Given the description of an element on the screen output the (x, y) to click on. 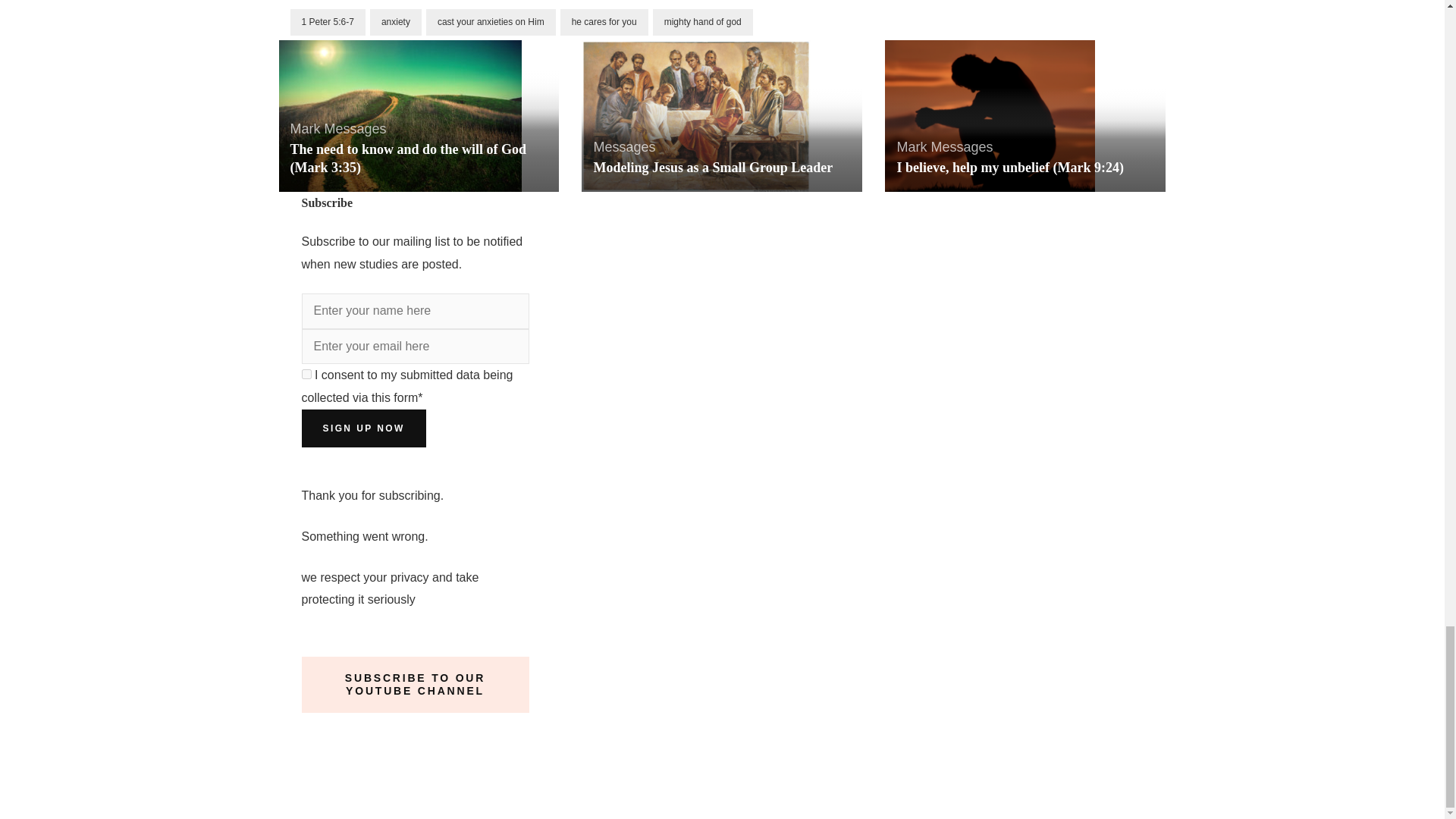
1 Peter 5:6-7 (327, 22)
mighty hand of god (702, 22)
Enter your name here (415, 311)
Mark (304, 128)
Sign Up Now (363, 428)
Enter your email here (415, 346)
Messages (355, 128)
cast your anxieties on Him (491, 22)
on (306, 374)
he cares for you (603, 22)
